Given the description of an element on the screen output the (x, y) to click on. 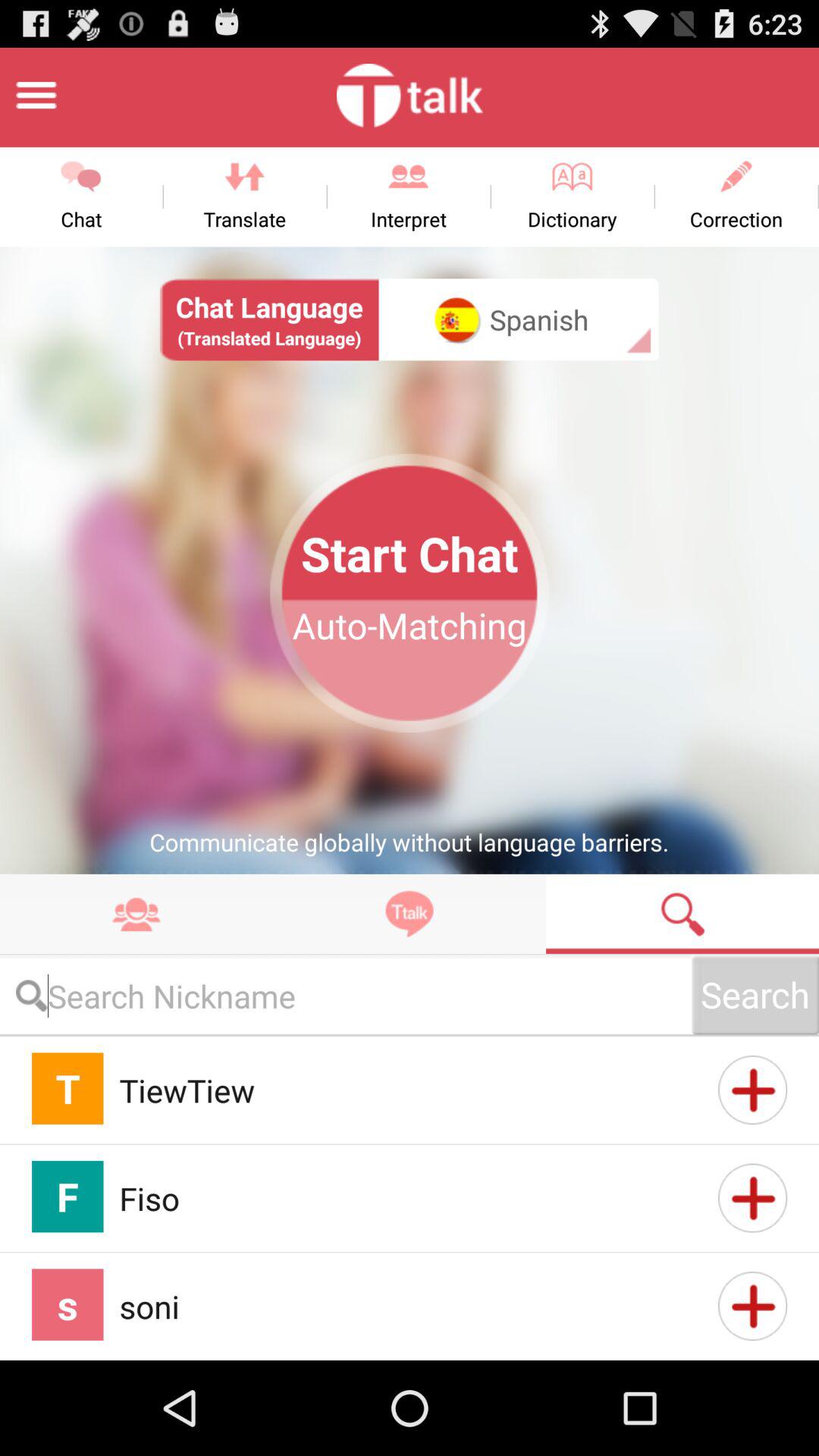
select search (682, 913)
